Given the description of an element on the screen output the (x, y) to click on. 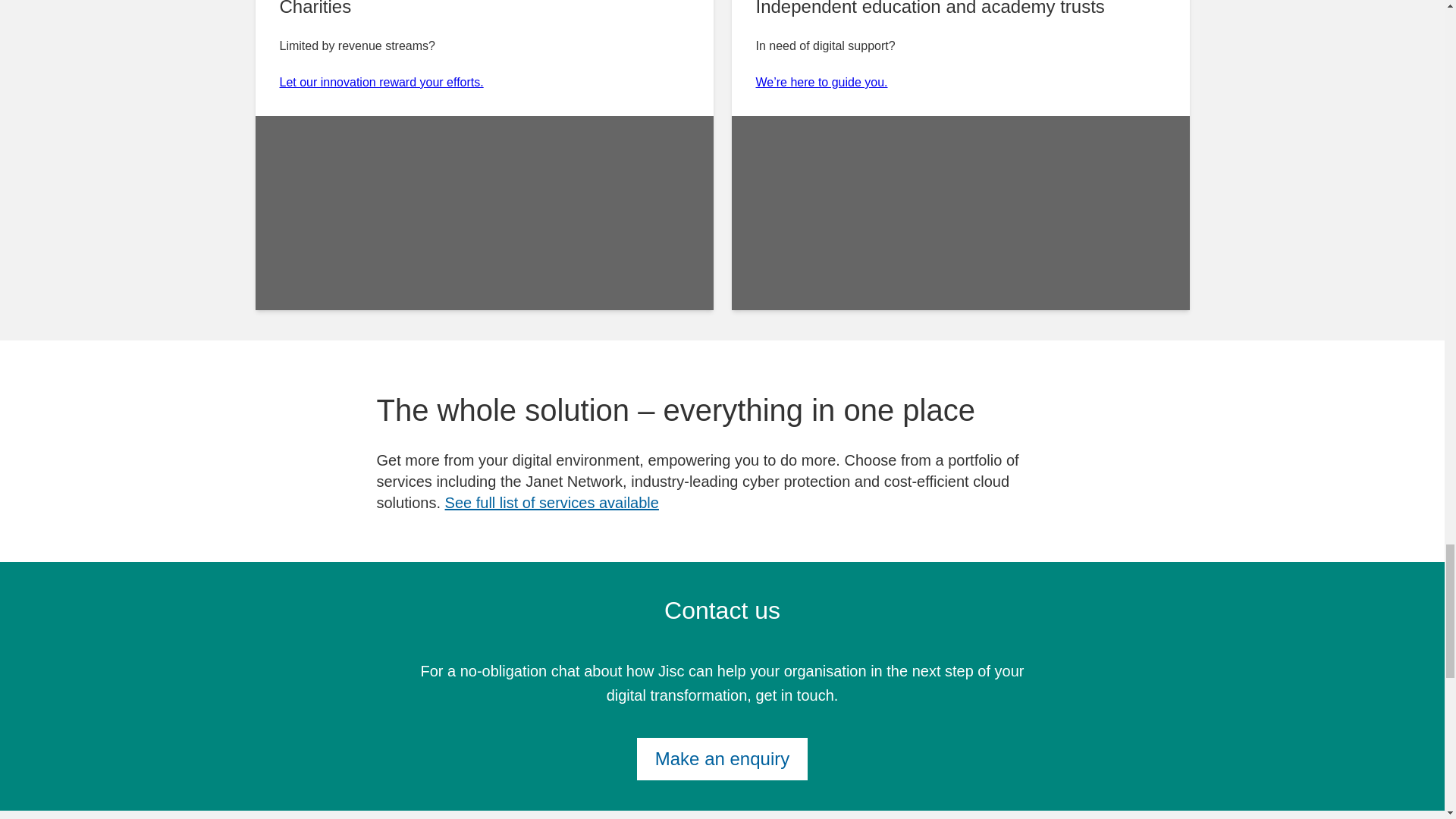
Make an enquiry (722, 758)
See full list of services available (552, 502)
Let our innovation reward your efforts. (381, 82)
